Given the description of an element on the screen output the (x, y) to click on. 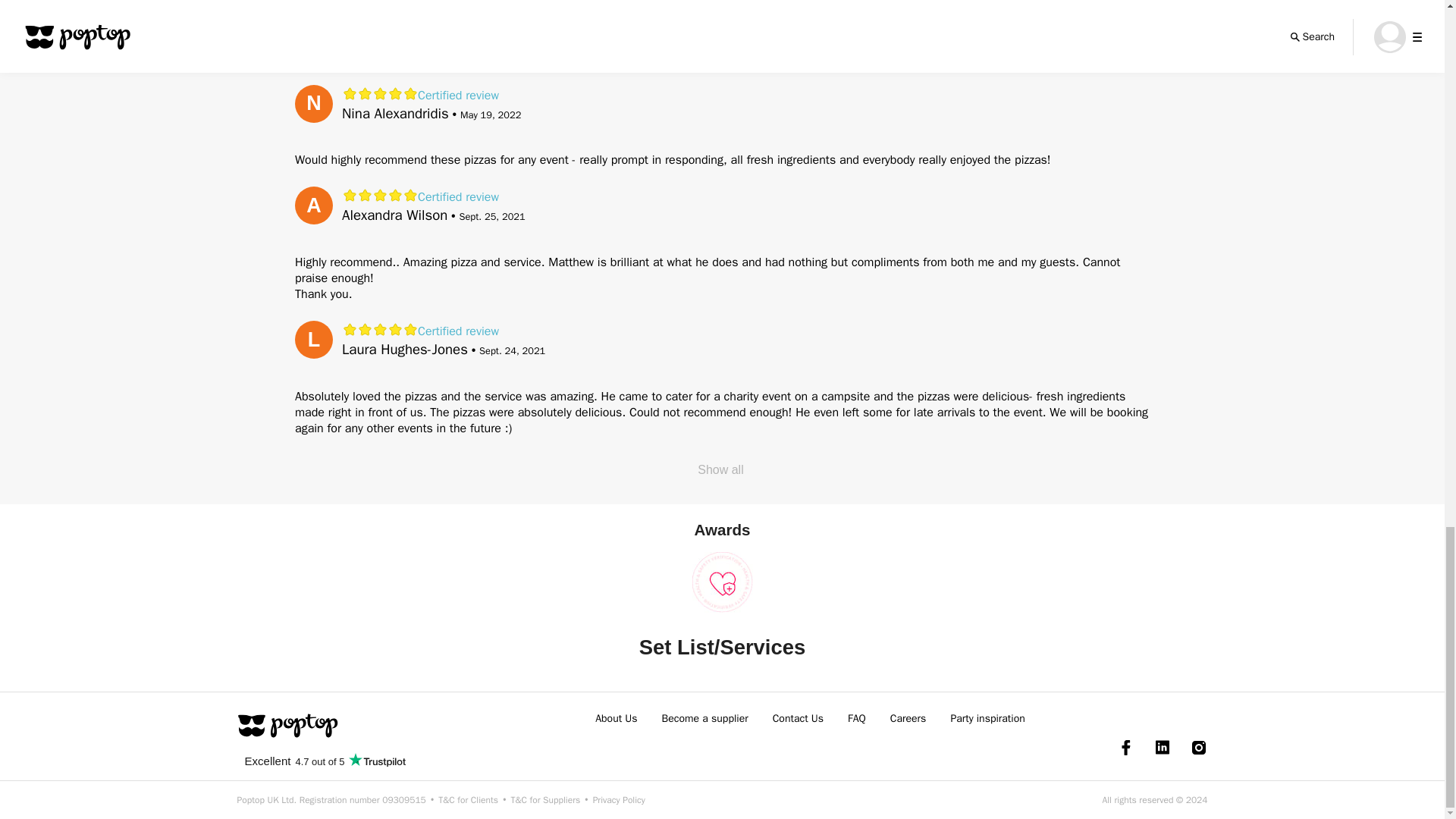
About Us (616, 718)
Customer reviews powered by Trustpilot (323, 760)
Contact Us (798, 718)
Careers (907, 718)
FAQ (856, 718)
Party inspiration (987, 718)
Become a supplier (705, 718)
Show all (720, 470)
Privacy Policy (618, 799)
